Given the description of an element on the screen output the (x, y) to click on. 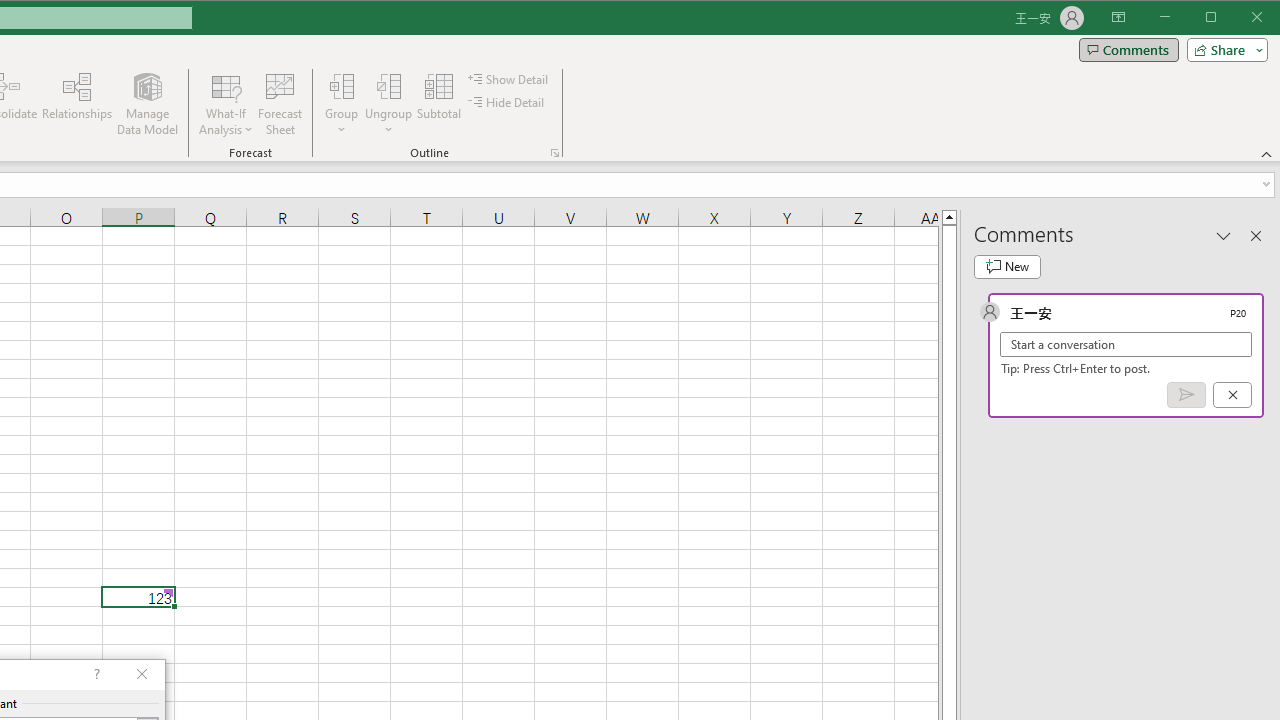
Start a conversation (1126, 344)
More Options (388, 123)
Show Detail (509, 78)
Group and Outline Settings (554, 152)
Cancel (1232, 395)
Subtotal (438, 104)
Post comment (Ctrl + Enter) (1186, 395)
Minimize (1217, 18)
Line up (948, 216)
Share (1223, 49)
Collapse the Ribbon (1267, 154)
What-If Analysis (226, 104)
